Given the description of an element on the screen output the (x, y) to click on. 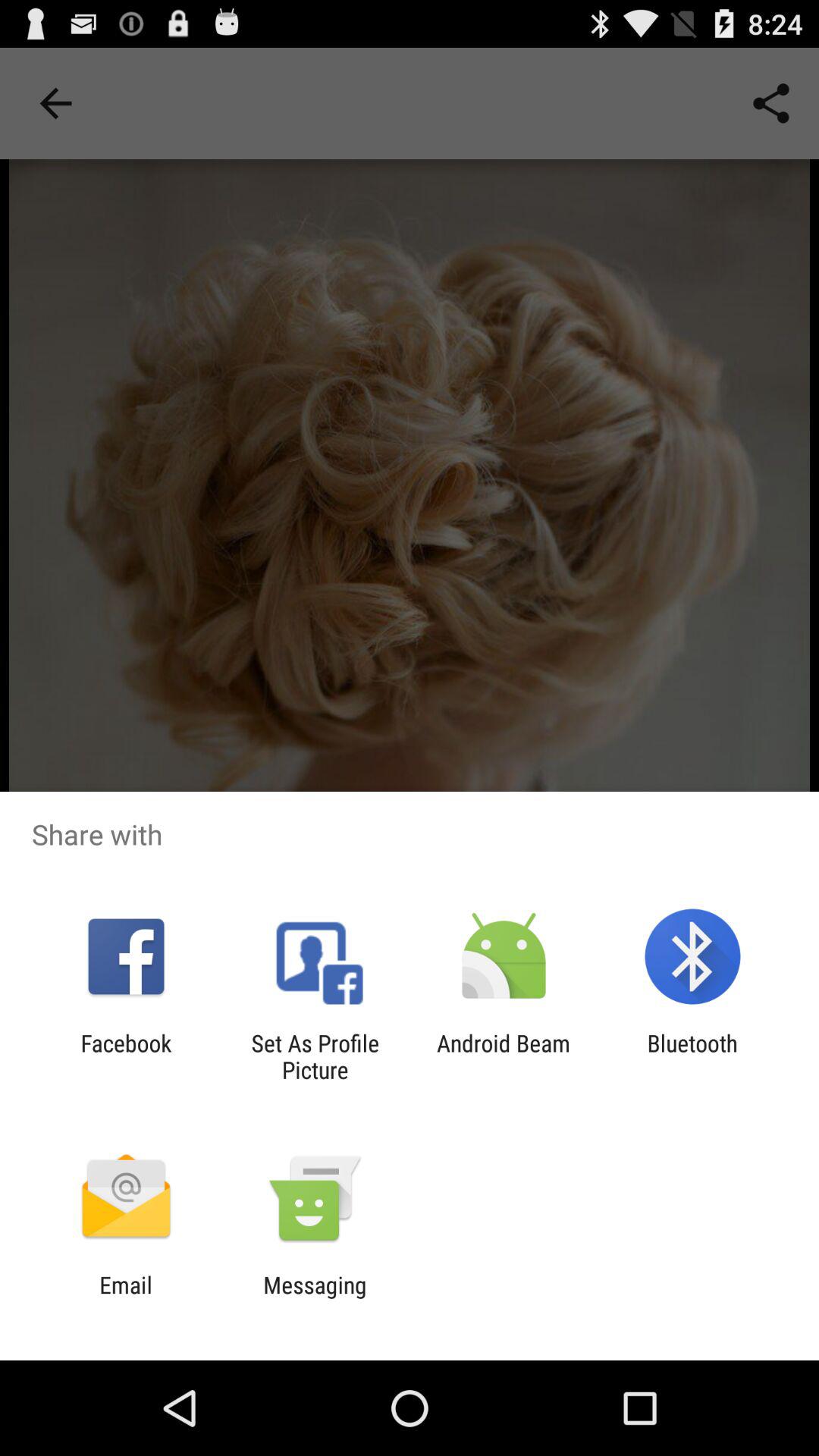
select messaging item (314, 1298)
